Given the description of an element on the screen output the (x, y) to click on. 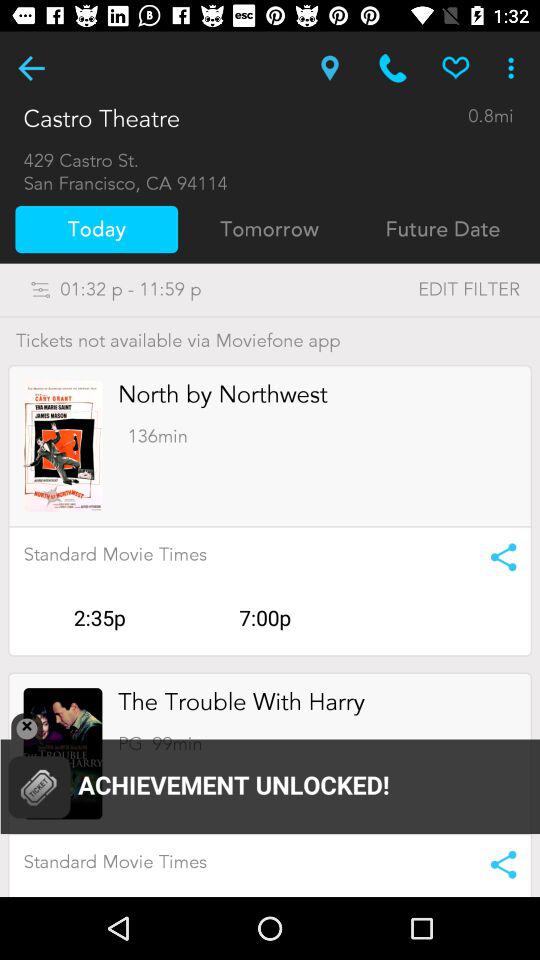
advertisement page (62, 753)
